Given the description of an element on the screen output the (x, y) to click on. 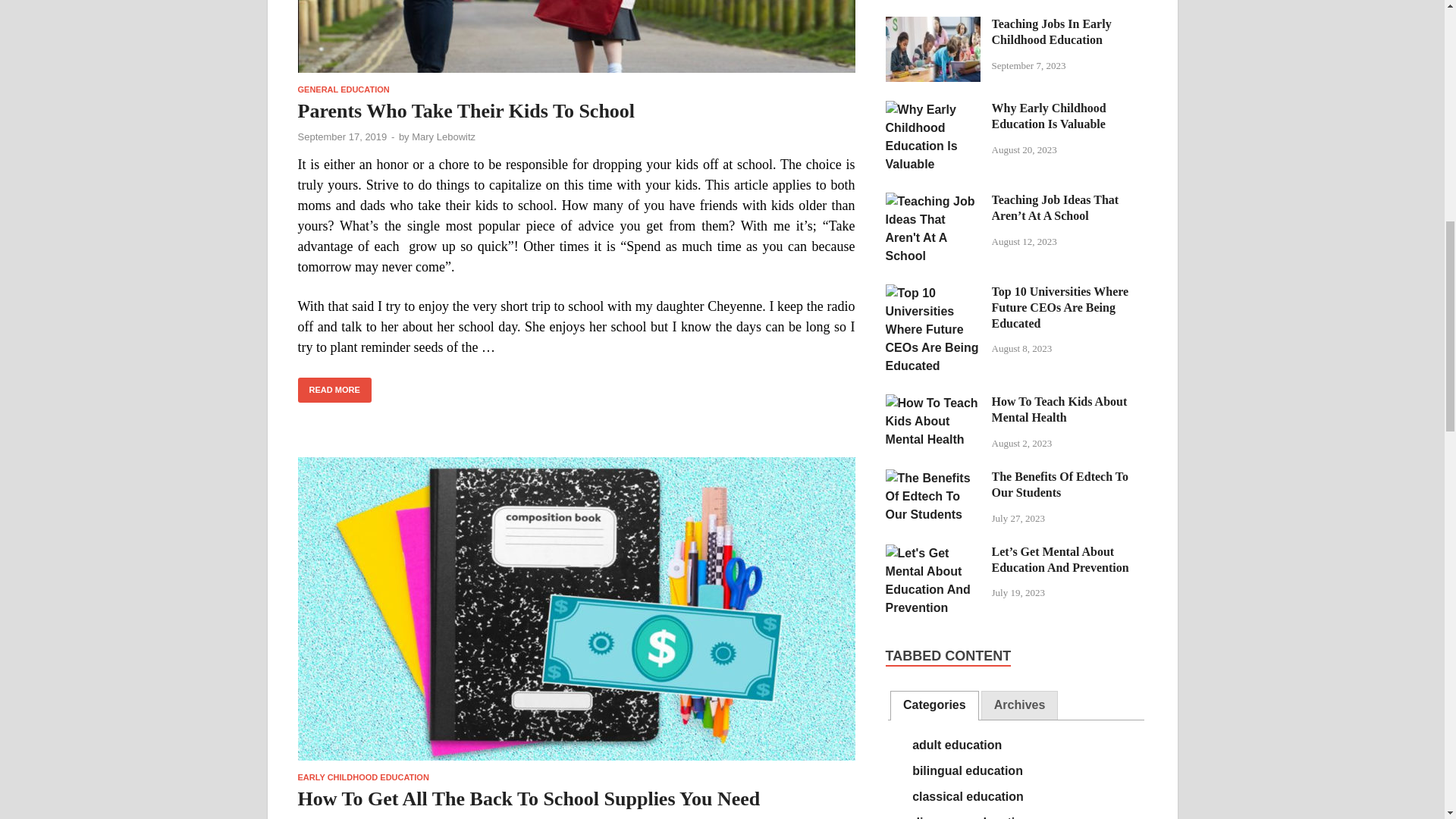
Why Early Childhood Education Is Valuable (932, 109)
How To Teach Kids About Mental Health (932, 402)
Teaching Jobs In Early Childhood Education (932, 24)
Parents Who Take Their Kids To School (575, 36)
Top 10 Universities Where Future CEOs Are Being Educated (932, 292)
The Benefits Of Edtech To Our Students (932, 477)
